Given the description of an element on the screen output the (x, y) to click on. 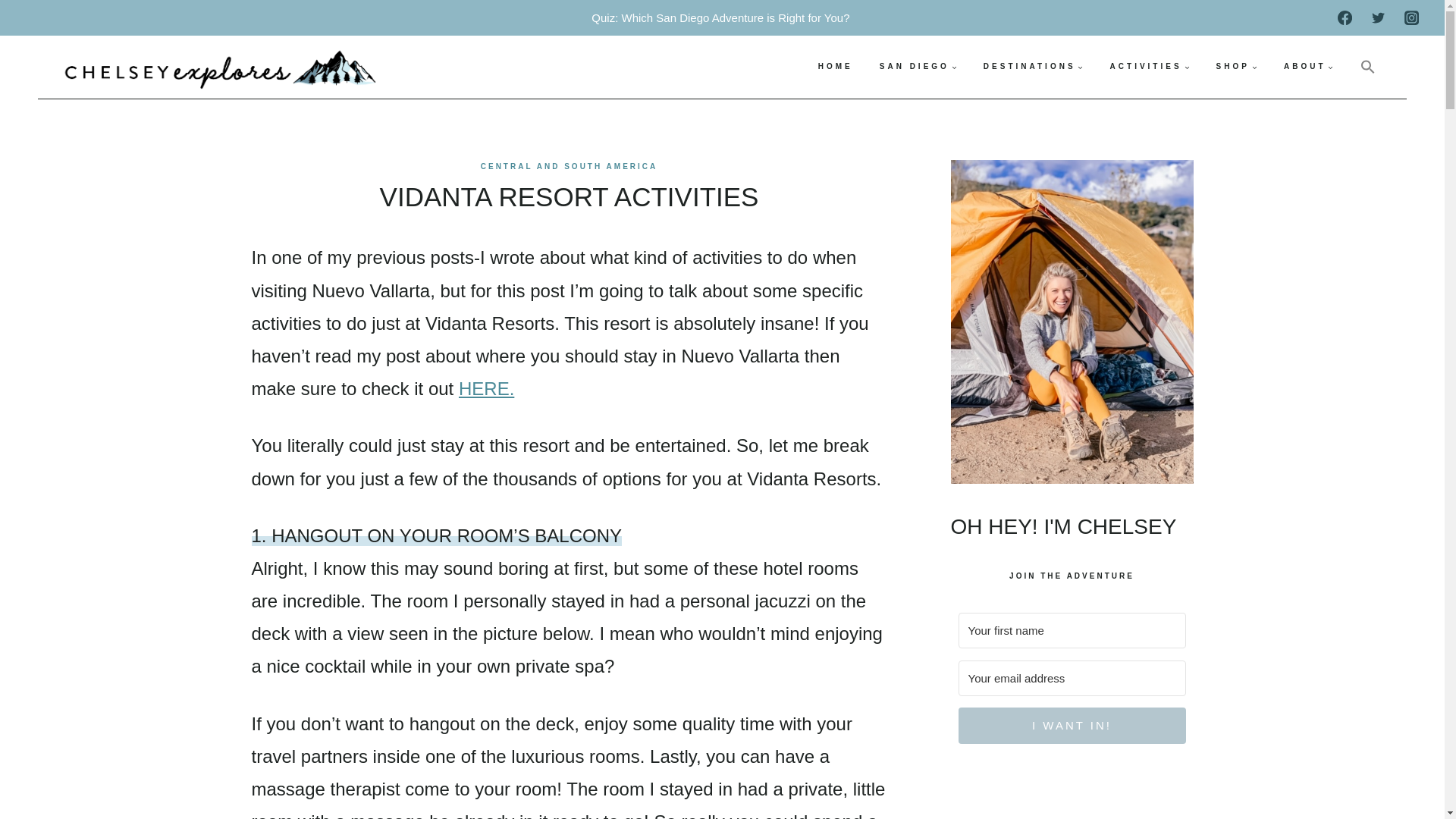
HOME (835, 67)
ACTIVITIES (1149, 67)
SAN DIEGO (917, 67)
DESTINATIONS (1032, 67)
Quiz: Which San Diego Adventure is Right for You?  (721, 17)
